Given the description of an element on the screen output the (x, y) to click on. 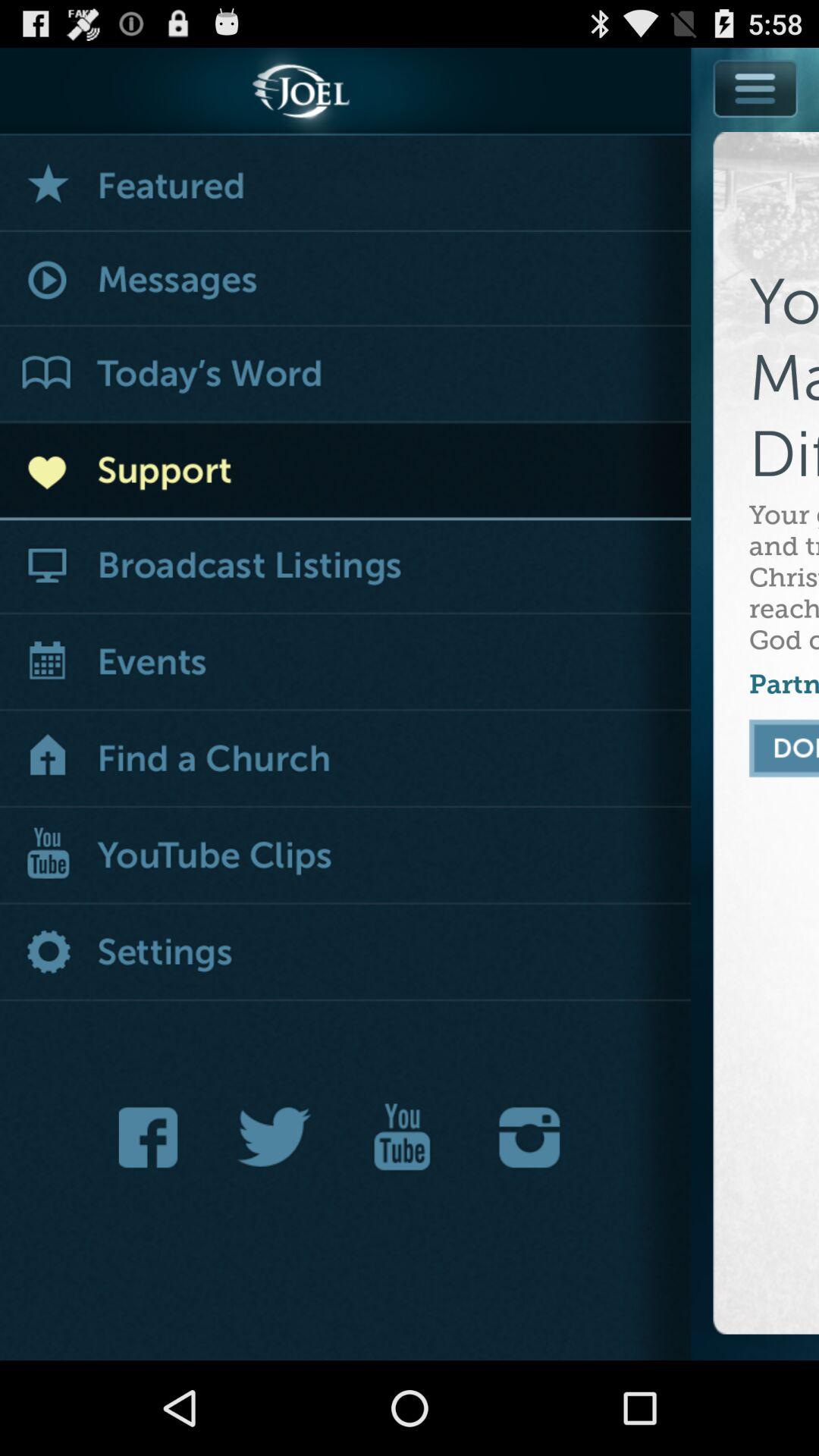
open facebook app (152, 1137)
